Given the description of an element on the screen output the (x, y) to click on. 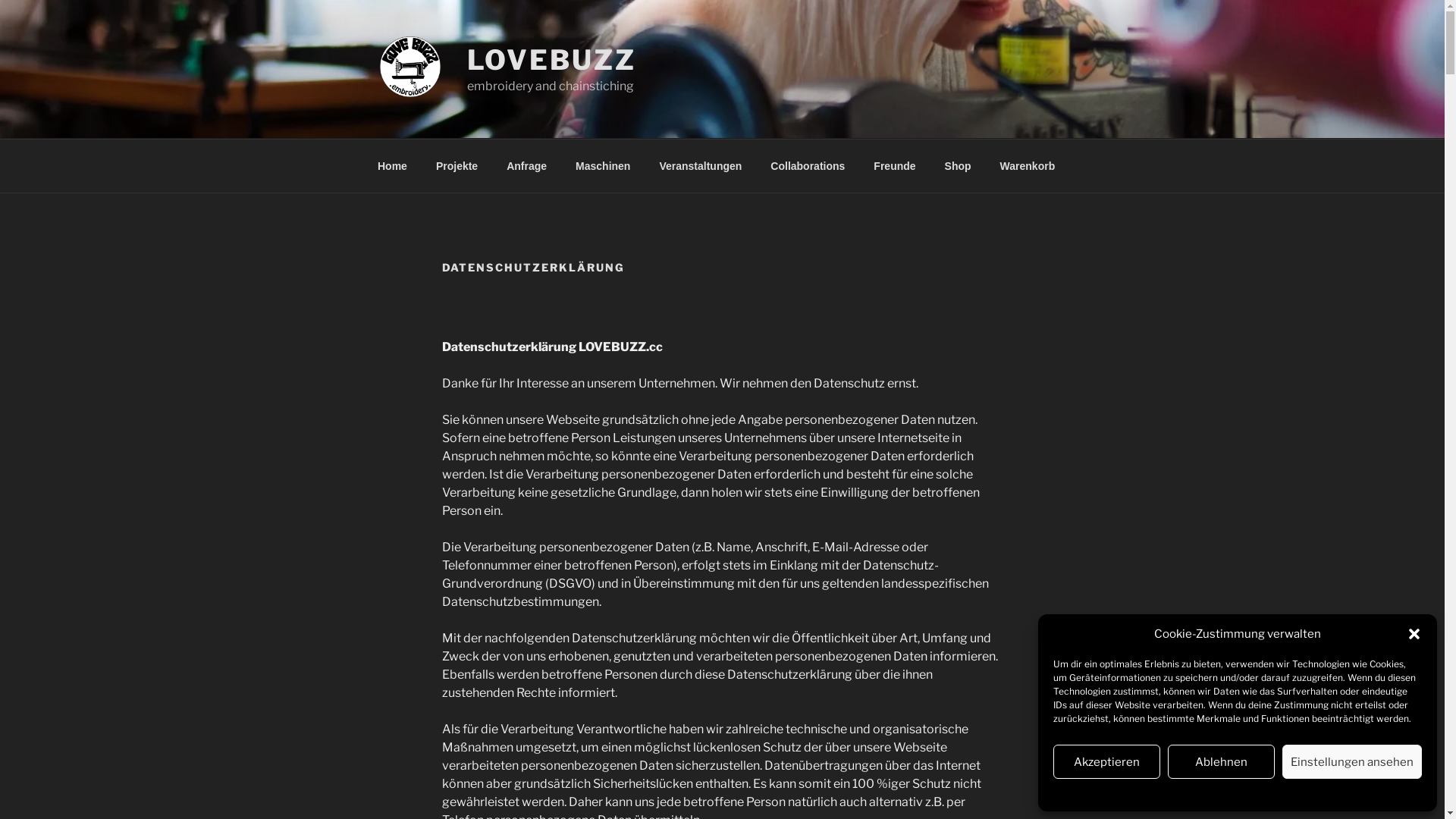
Projekte Element type: text (456, 165)
Anfrage Element type: text (526, 165)
Maschinen Element type: text (602, 165)
Shop Element type: text (957, 165)
Akzeptieren Element type: text (1106, 761)
LOVEBUZZ Element type: text (551, 59)
Veranstaltungen Element type: text (700, 165)
Einstellungen ansehen Element type: text (1351, 761)
Collaborations Element type: text (807, 165)
Impressum Element type: text (1293, 793)
Warenkorb Element type: text (1027, 165)
Ablehnen Element type: text (1220, 761)
Freunde Element type: text (894, 165)
Home Element type: text (392, 165)
